Given the description of an element on the screen output the (x, y) to click on. 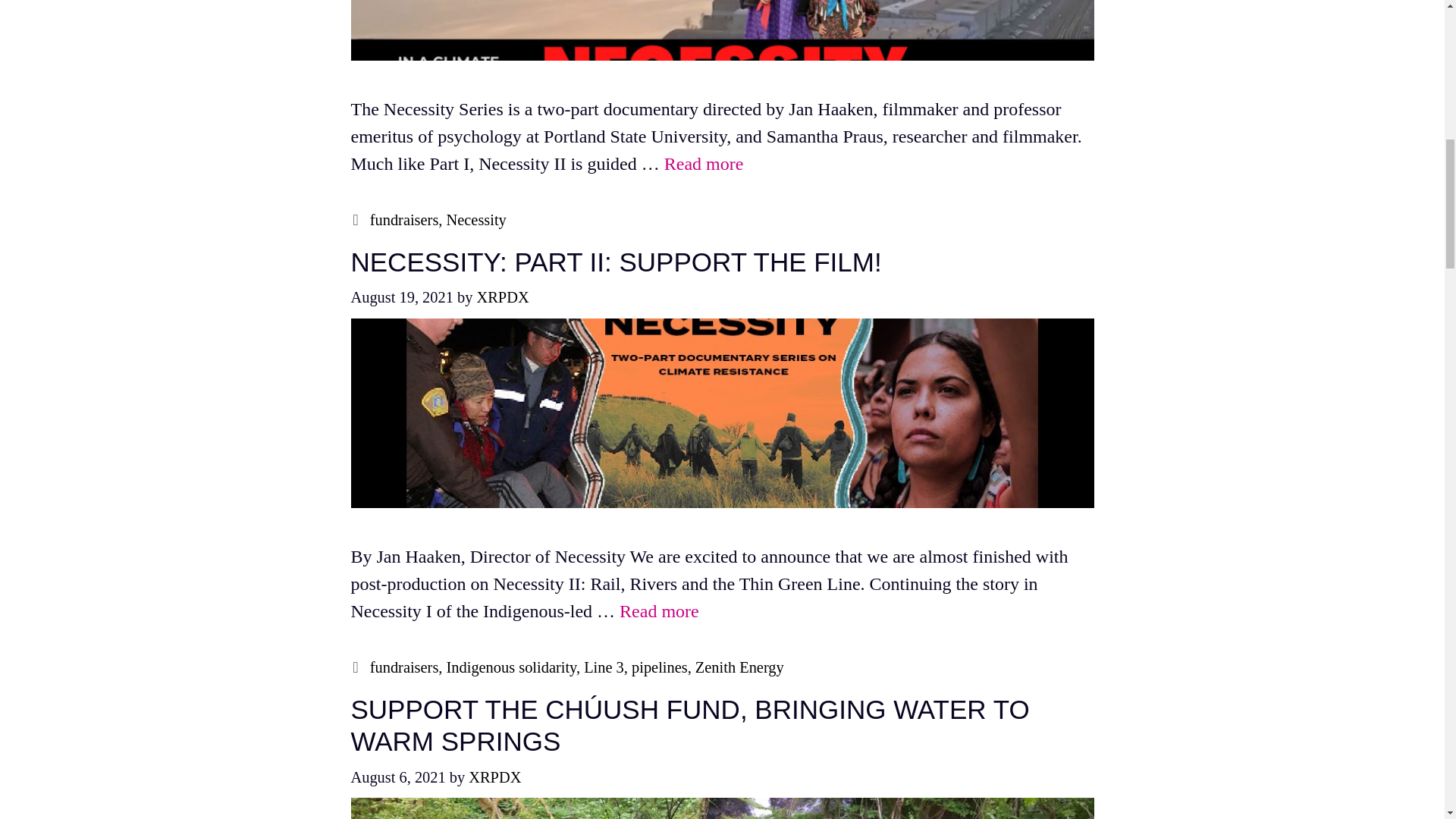
Read more (703, 163)
XRPDX (502, 297)
fundraisers (404, 667)
fundraisers (404, 219)
Read more (659, 610)
Line 3 (603, 667)
XRUS Fundraiser for Legal Defense Fund (703, 163)
Indigenous solidarity (511, 667)
Necessity: Part II: Support the Film! (659, 610)
View all posts by XRPDX (494, 777)
